Given the description of an element on the screen output the (x, y) to click on. 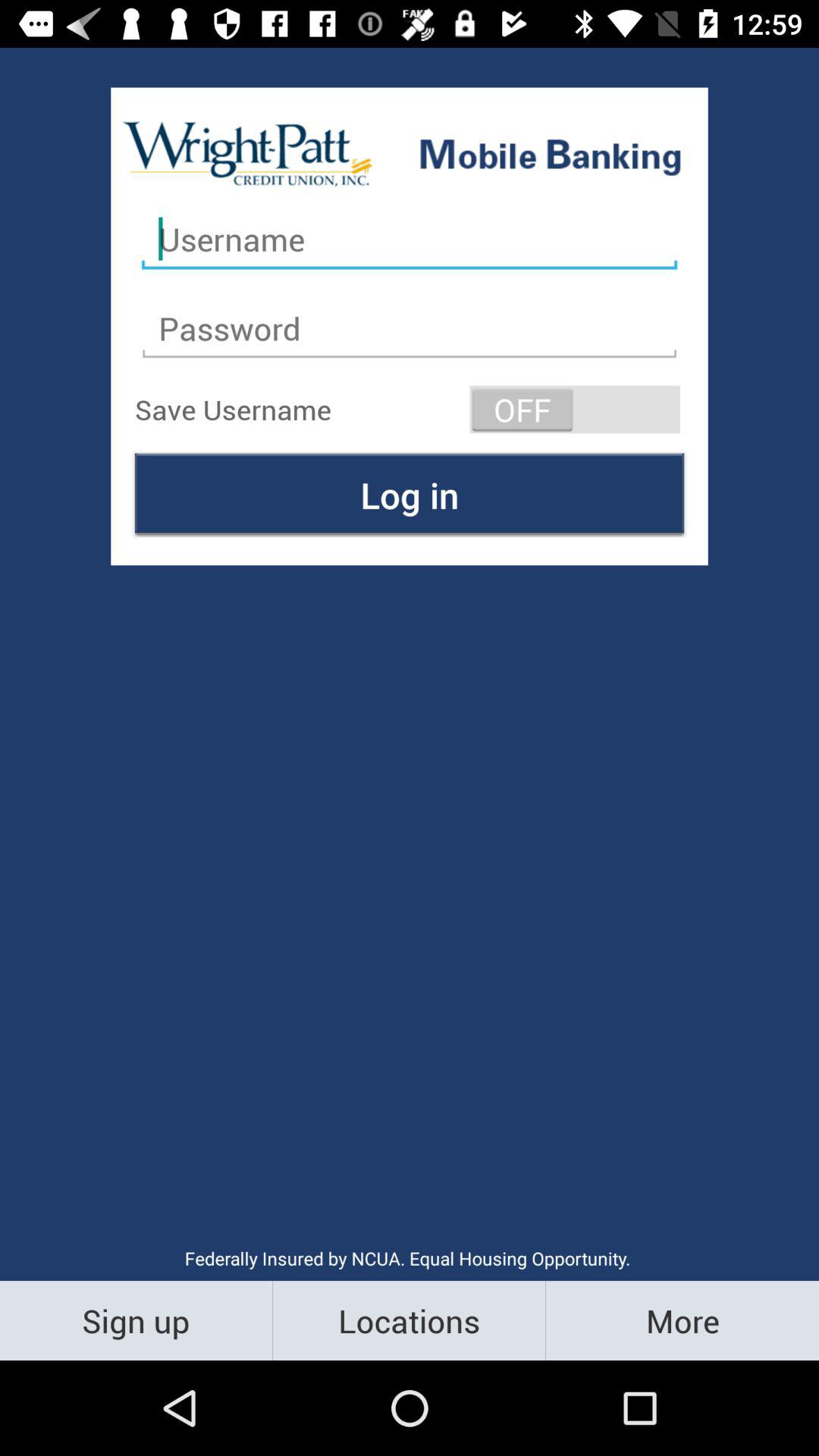
open the item at the center (409, 494)
